Given the description of an element on the screen output the (x, y) to click on. 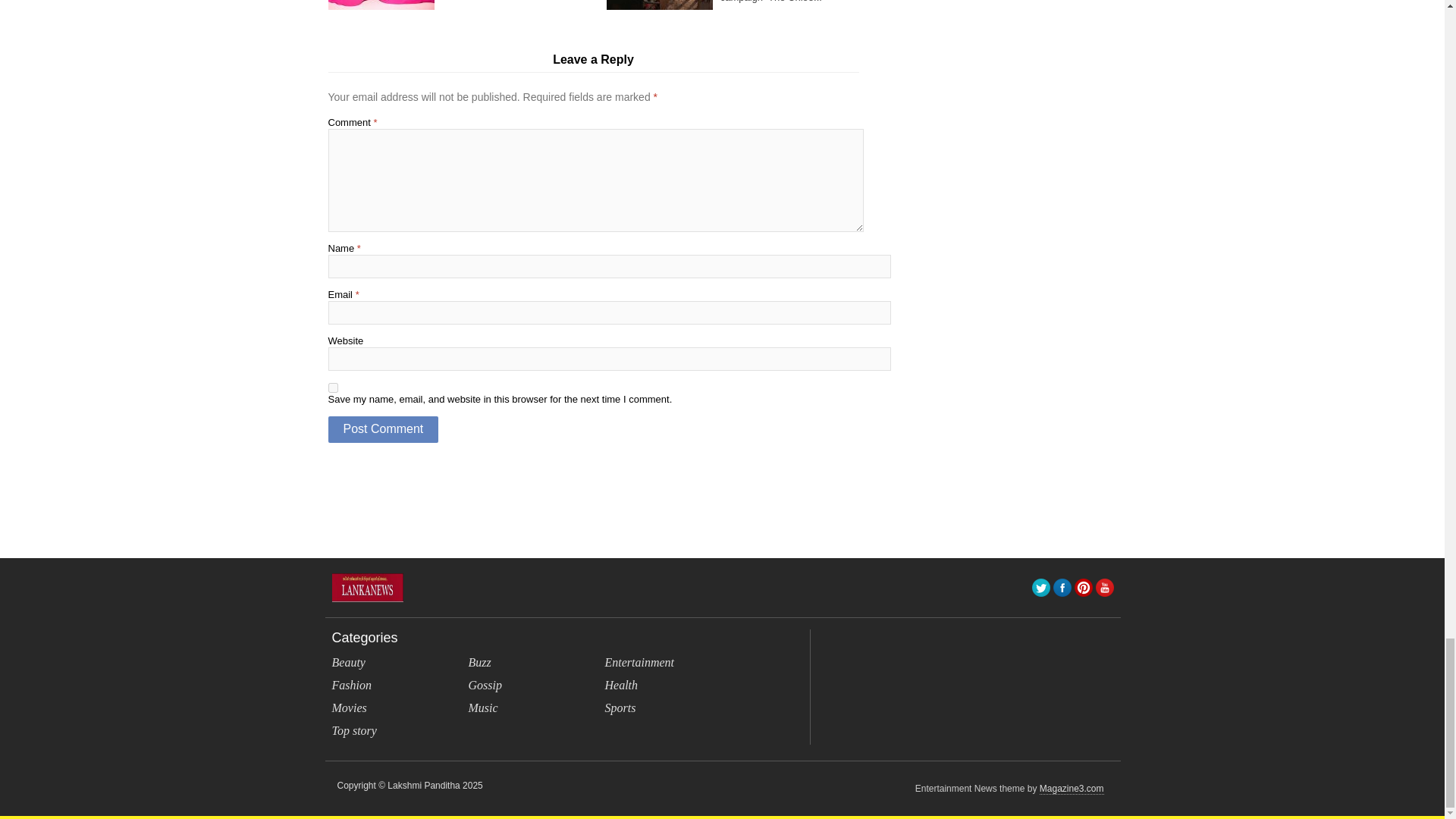
yes (332, 388)
Post Comment (382, 429)
Post Comment (382, 429)
